Given the description of an element on the screen output the (x, y) to click on. 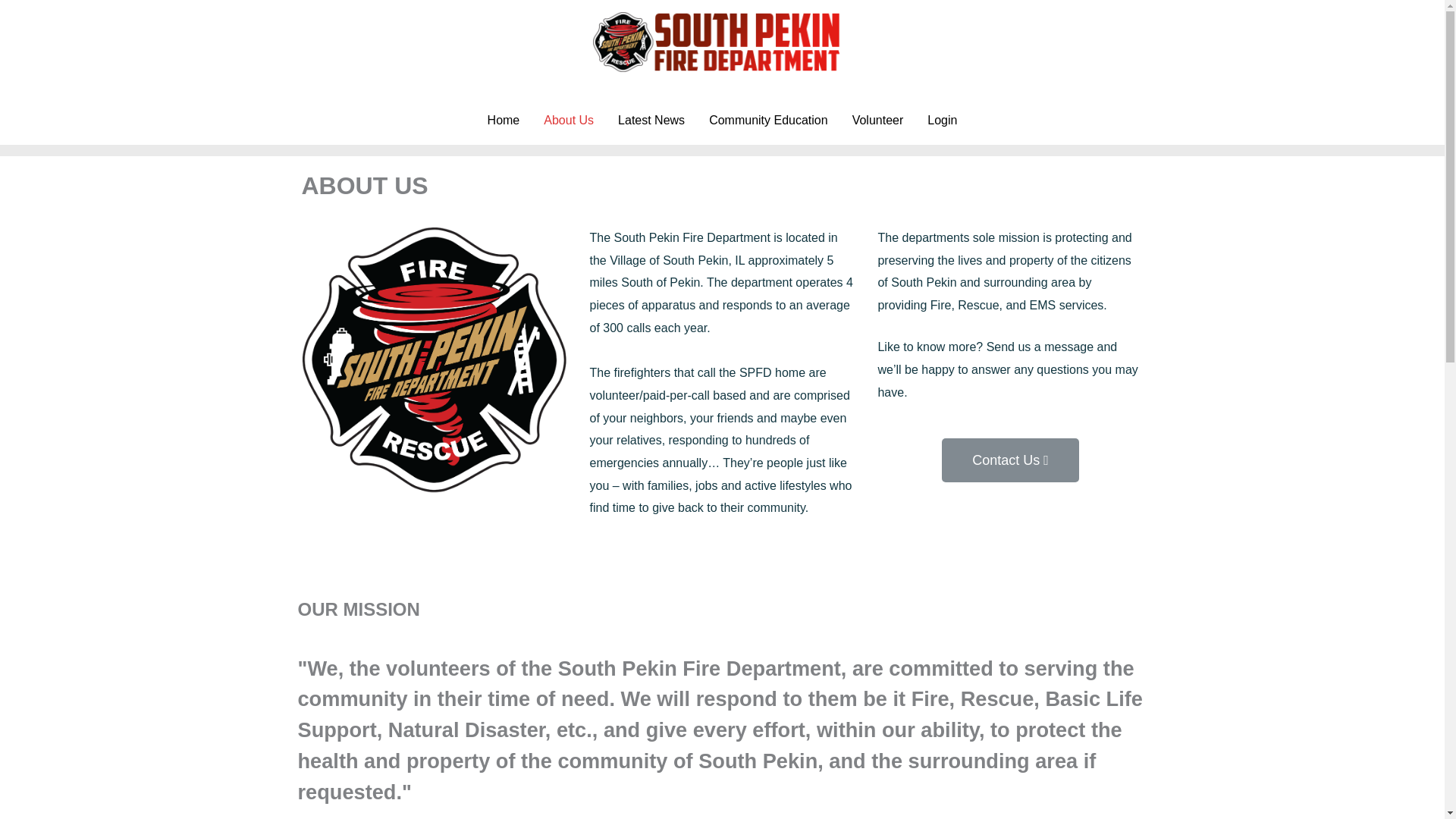
Volunteer (877, 120)
About Us (568, 120)
Community Education (768, 120)
pic1 (434, 360)
Home (504, 120)
Contact Us (1010, 460)
Login (942, 120)
Latest News (651, 120)
